Given the description of an element on the screen output the (x, y) to click on. 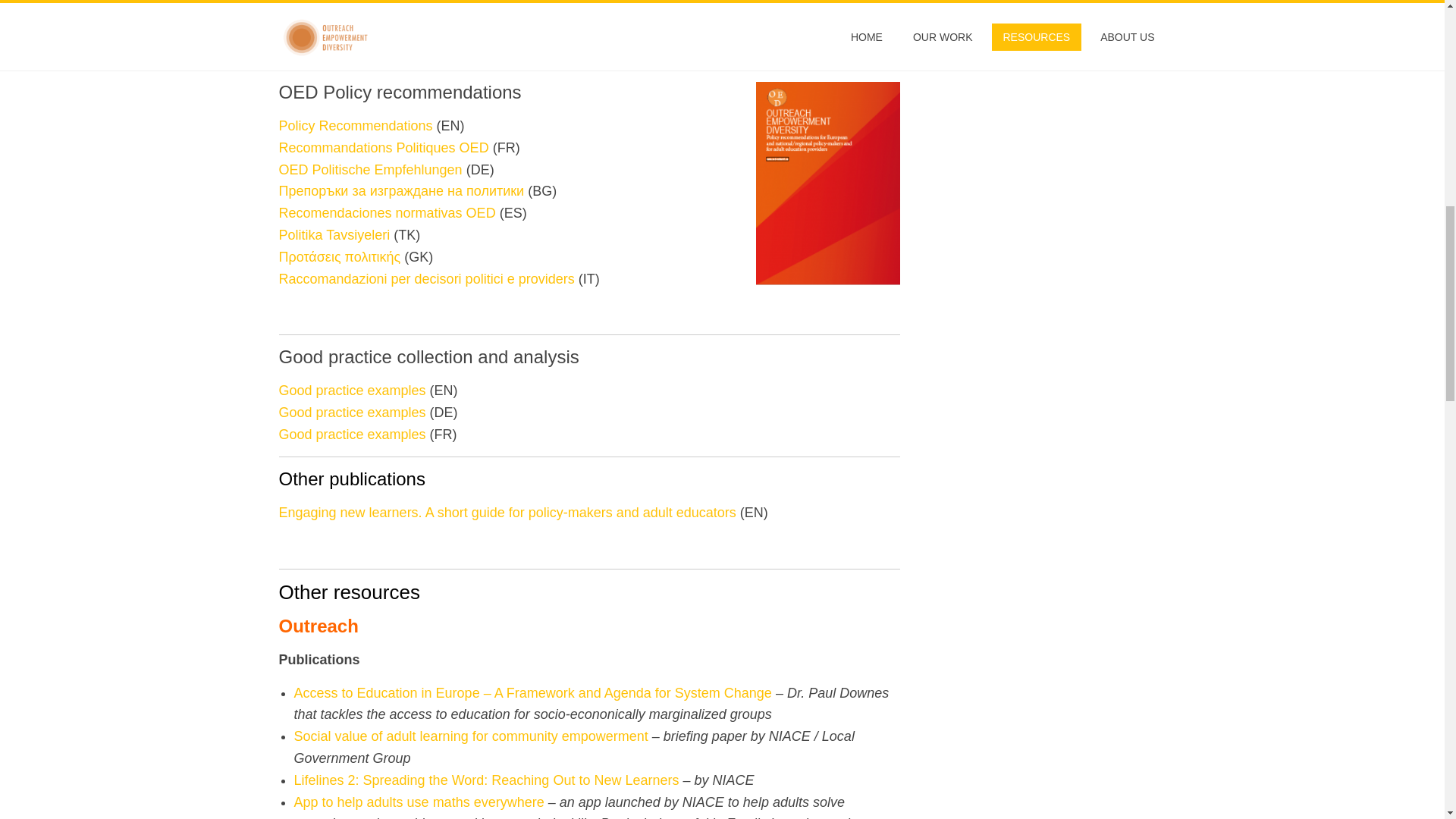
Policy Recommendations (355, 125)
Social value of adult learning for community empowerment (470, 735)
Good practice examples (352, 390)
OED Politische Empfehlungen (371, 169)
Recommandations Politiques OED (384, 147)
App to help adults use maths everywhere (419, 801)
Good practice examples (352, 434)
Raccomandazioni per decisori politici e providers (427, 278)
Politika Tavsiyeleri (334, 234)
